Given the description of an element on the screen output the (x, y) to click on. 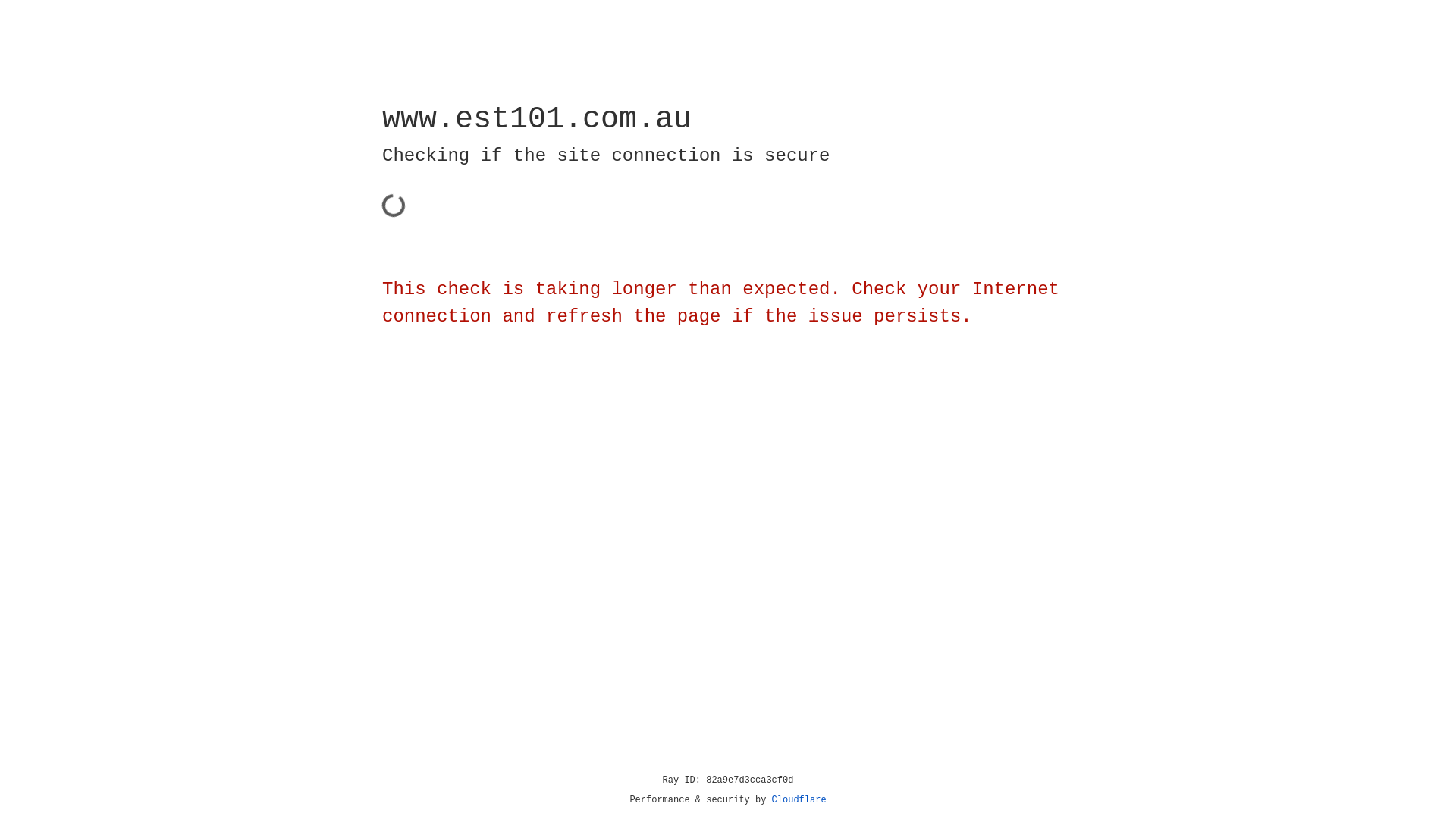
Cloudflare Element type: text (798, 799)
